Given the description of an element on the screen output the (x, y) to click on. 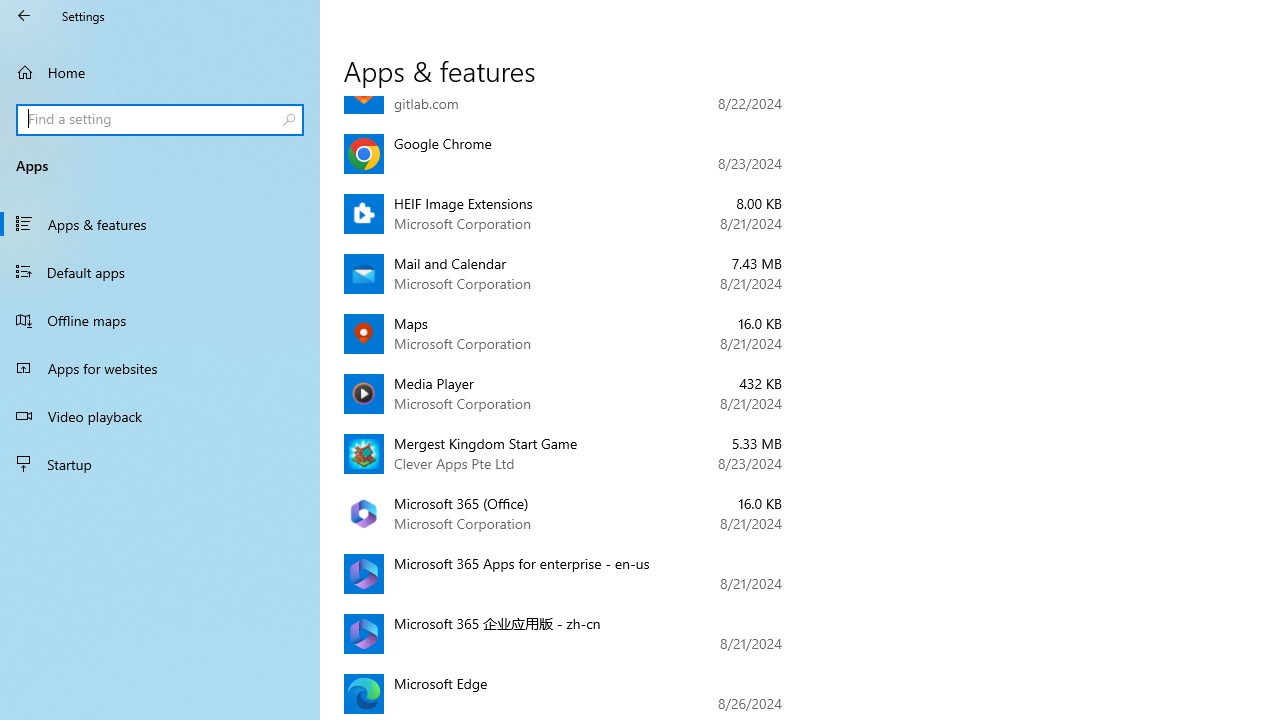
Apps for websites (160, 367)
Default apps (160, 271)
